Given the description of an element on the screen output the (x, y) to click on. 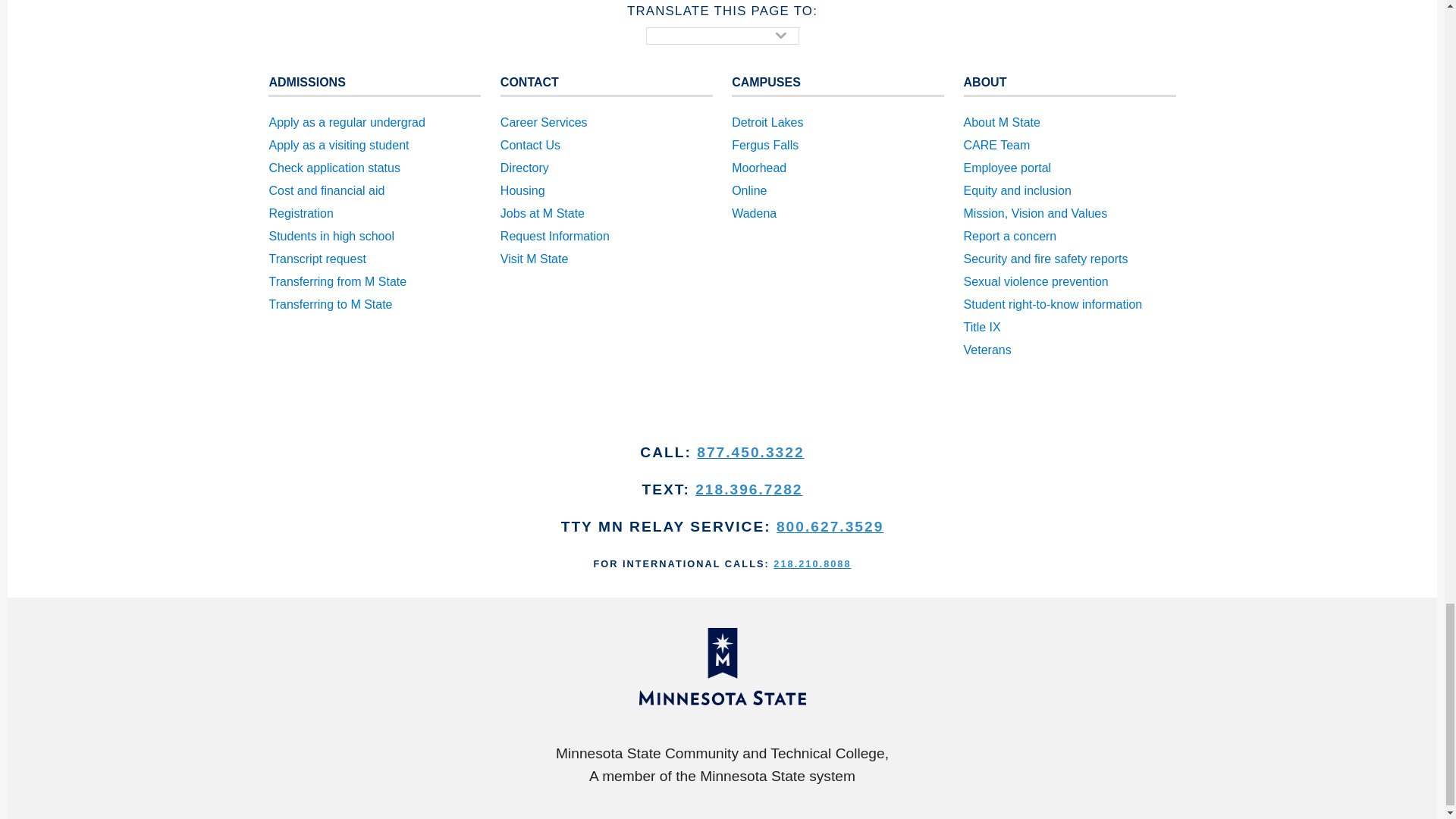
M State's mission, vision, values and strategic plan (1069, 213)
